Given the description of an element on the screen output the (x, y) to click on. 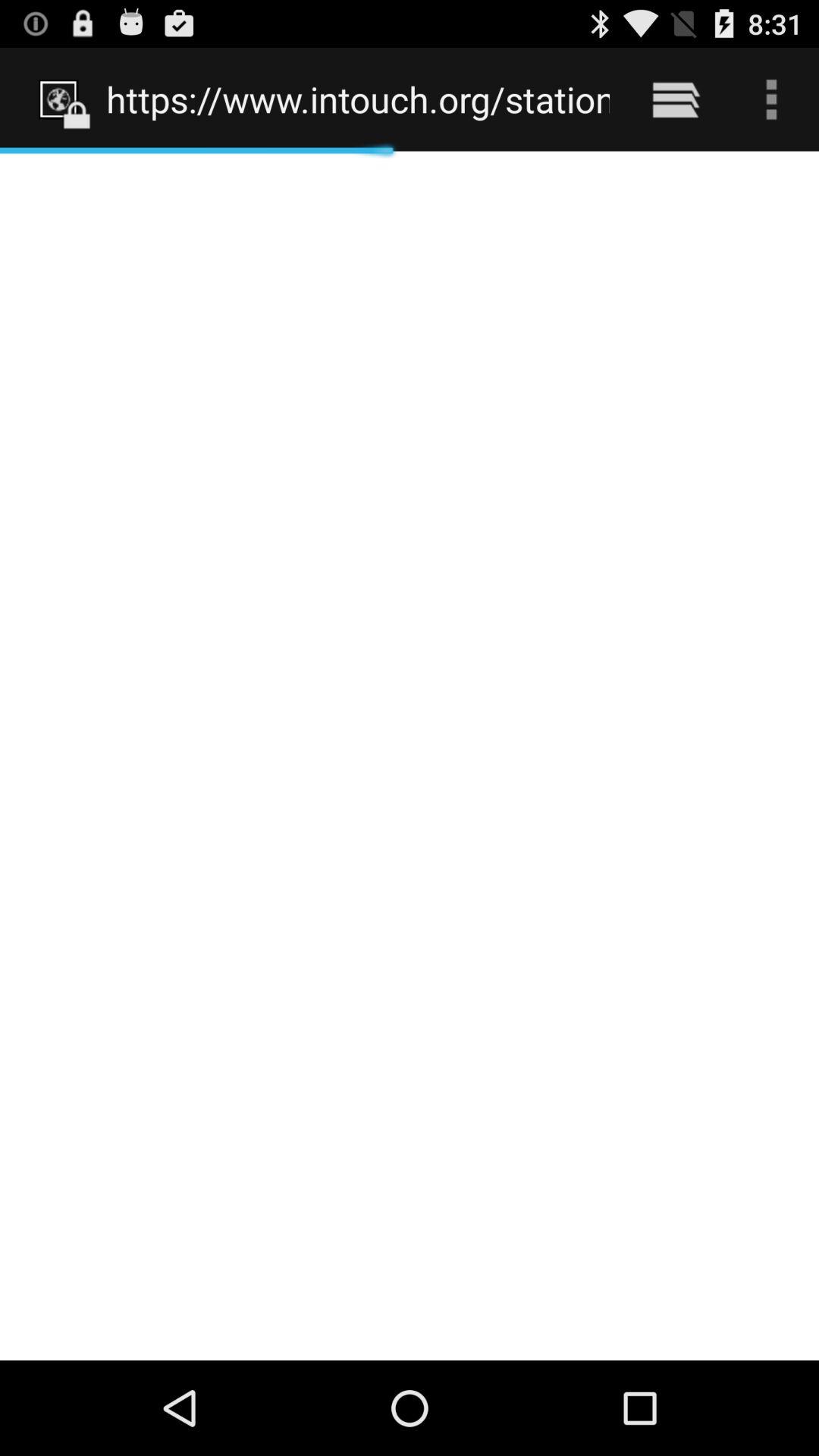
press the https www intouch item (357, 99)
